Given the description of an element on the screen output the (x, y) to click on. 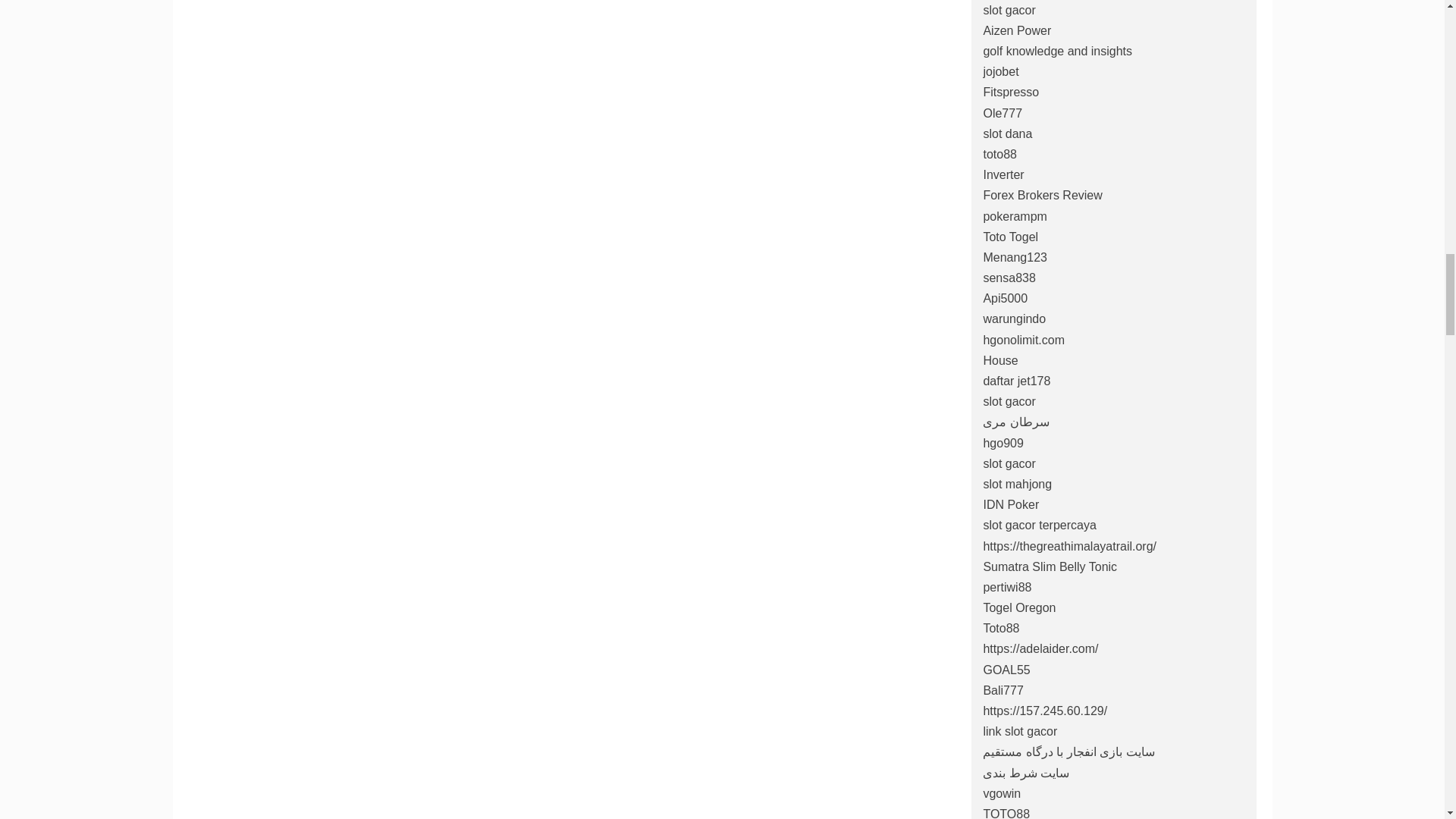
jojobet (999, 71)
